Given the description of an element on the screen output the (x, y) to click on. 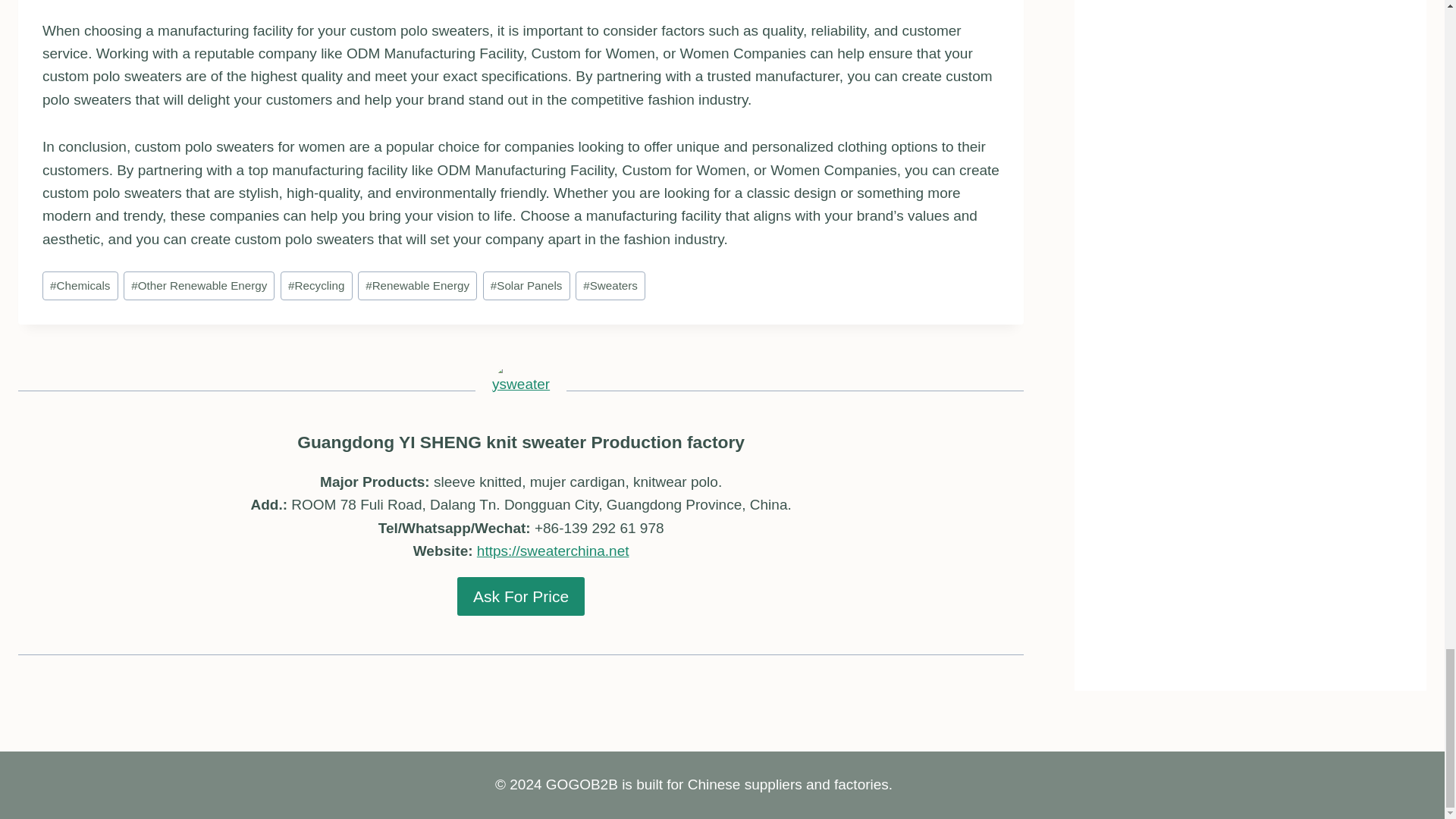
Other Renewable Energy (199, 285)
Chemicals (79, 285)
Recycling (316, 285)
Renewable Energy (417, 285)
Sweaters (610, 285)
Solar Panels (526, 285)
